Given the description of an element on the screen output the (x, y) to click on. 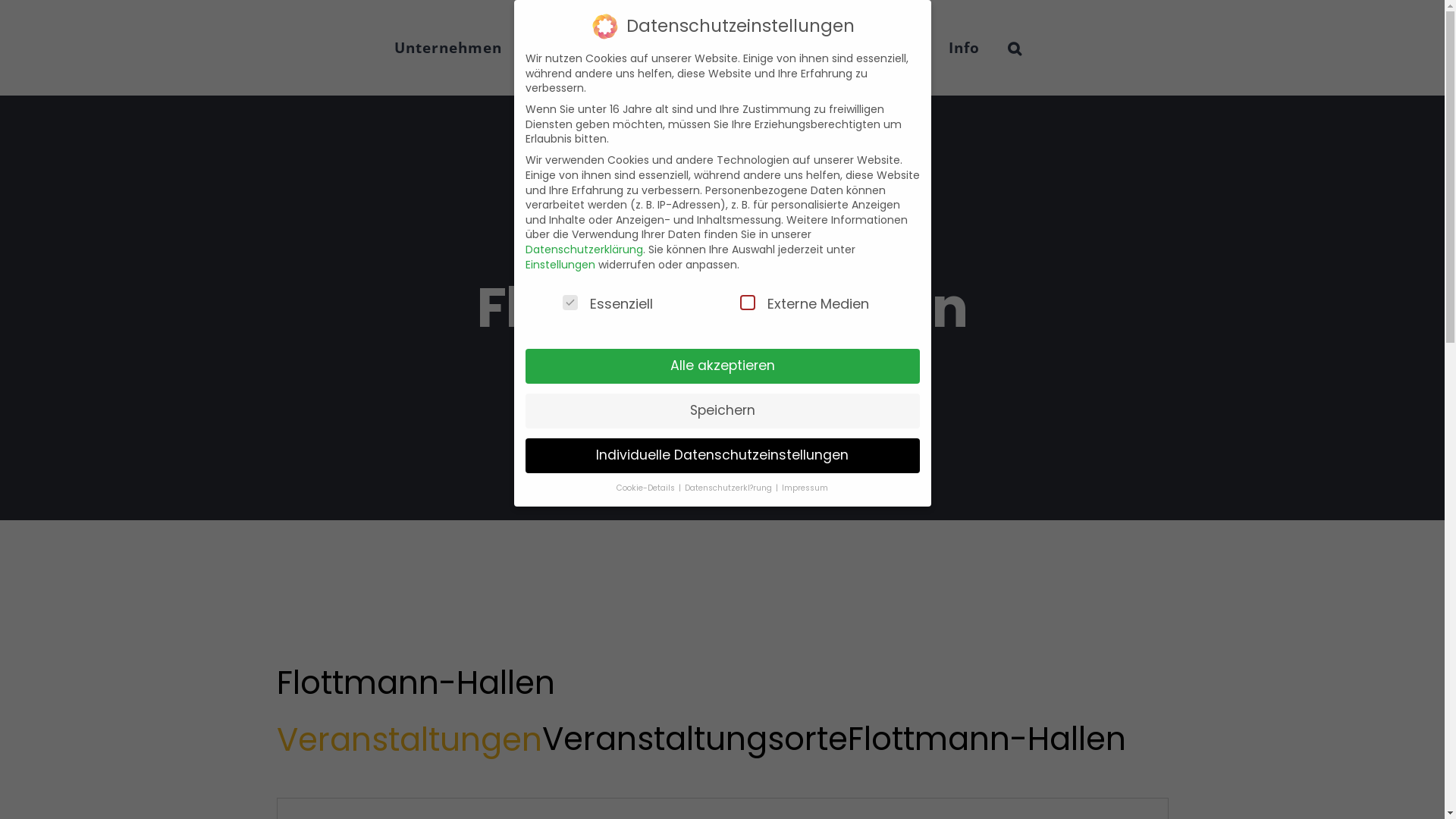
Suche Element type: hover (1014, 47)
Standort Element type: text (886, 47)
Individuelle Datenschutzeinstellungen Element type: text (721, 455)
Impressum Element type: text (804, 487)
Veranstaltungen Element type: text (408, 740)
Datenschutzerkl?rung Element type: text (729, 487)
Einstellungen Element type: text (559, 264)
Cookie-Details Element type: text (646, 487)
Info Element type: text (963, 47)
Speichern Element type: text (721, 410)
Unternehmen Element type: text (448, 47)
Alle akzeptieren Element type: text (721, 365)
